Given the description of an element on the screen output the (x, y) to click on. 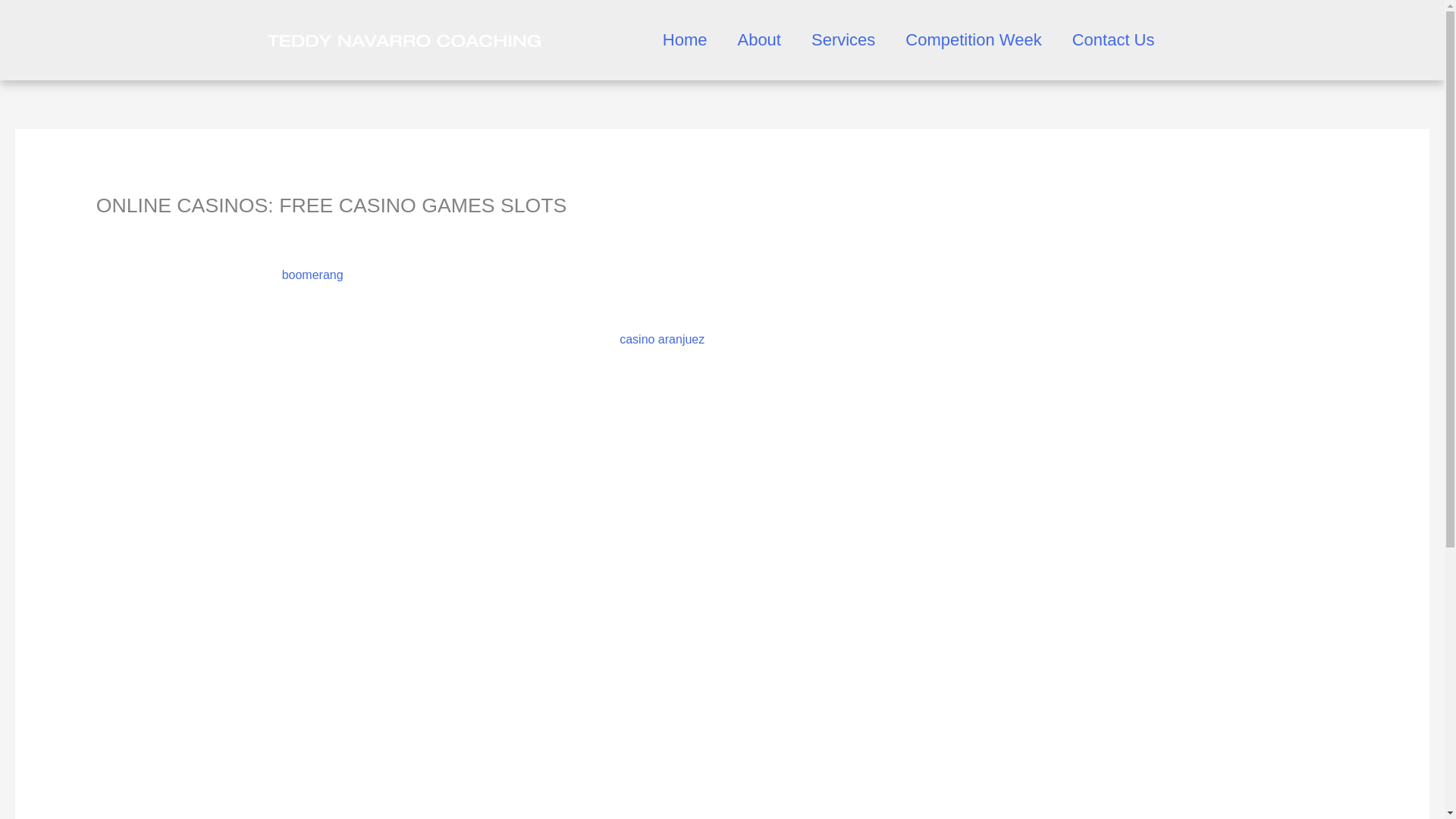
Competition Week (973, 39)
About (759, 39)
Home (684, 39)
casino aranjuez (662, 338)
navarro.teddy (239, 230)
View all posts by navarro.teddy (239, 230)
Contact Us (1113, 39)
Services (842, 39)
Uncategorized (135, 230)
boomerang (312, 274)
